Given the description of an element on the screen output the (x, y) to click on. 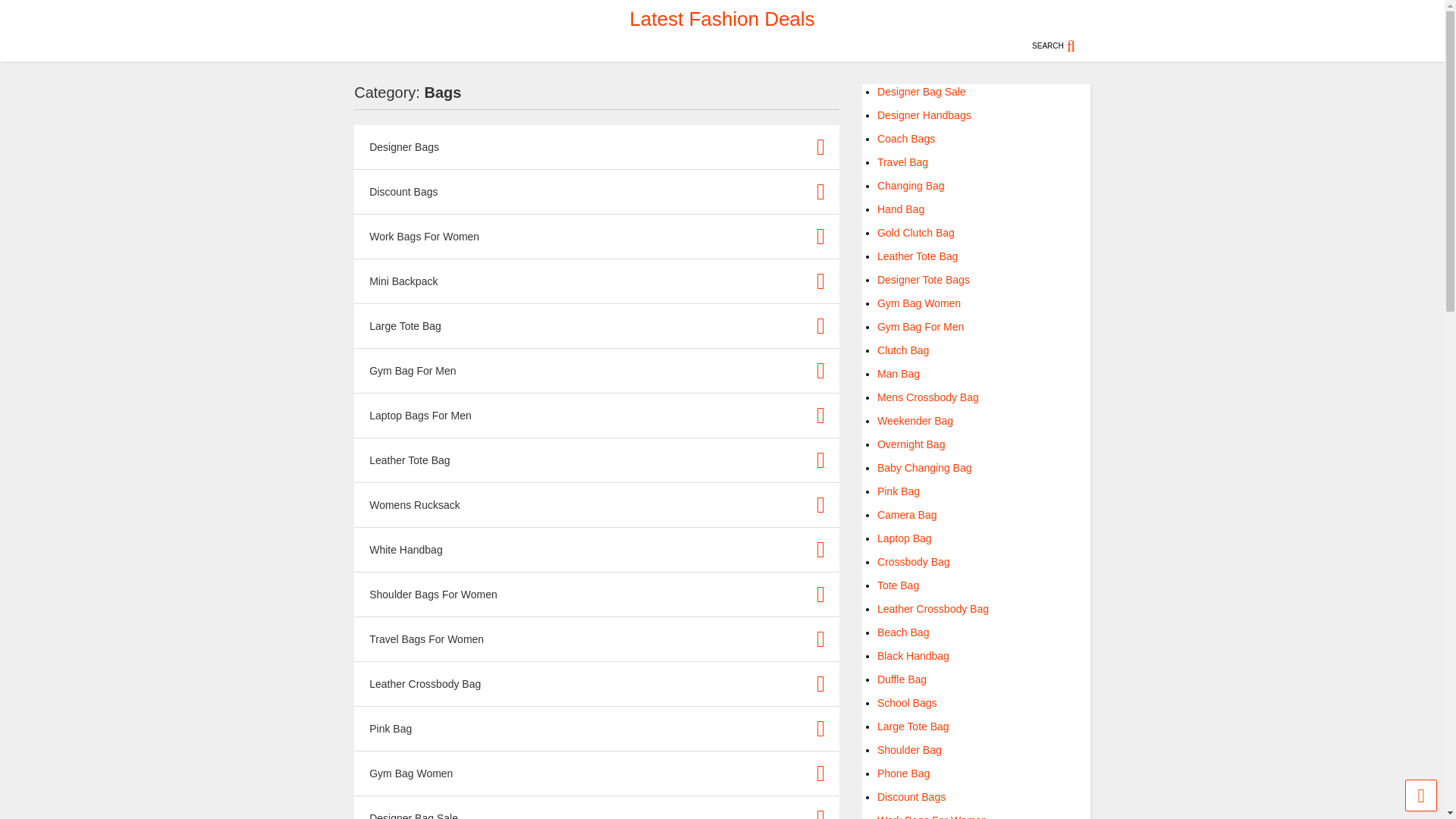
Designer Bags (404, 146)
Gym Bag Women (410, 773)
Large Tote Bag (405, 326)
Leather Crossbody Bag (424, 684)
Mini Backpack (403, 280)
Pink Bag (390, 727)
Leather Tote Bag (409, 459)
Shoulder Bags For Women (433, 594)
Laptop Bags For Men (420, 415)
Designer Bag Sale (413, 815)
SEARCH (1061, 46)
Latest Fashion Deals (720, 18)
Travel Bags For Women (426, 638)
Womens Rucksack (414, 504)
Work Bags For Women (424, 236)
